Given the description of an element on the screen output the (x, y) to click on. 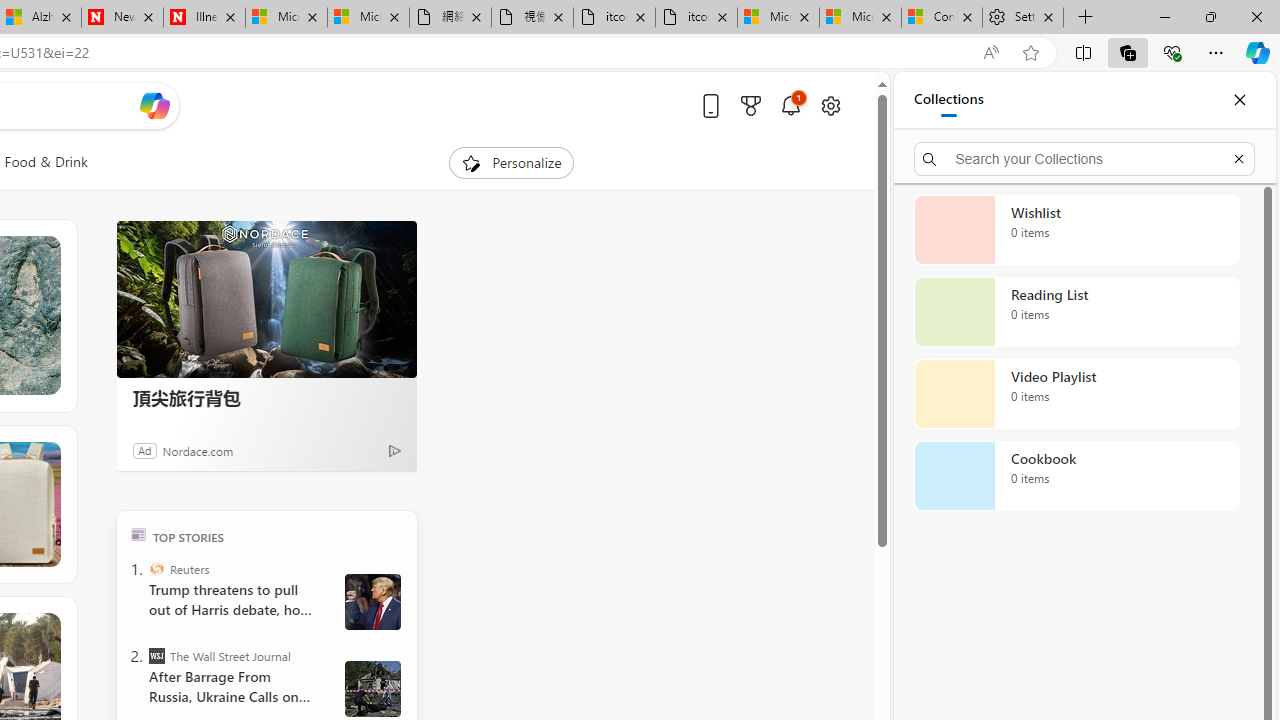
Nordace.com (198, 450)
Video Playlist collection, 0 items (1076, 394)
Reading List collection, 0 items (1076, 312)
